Given the description of an element on the screen output the (x, y) to click on. 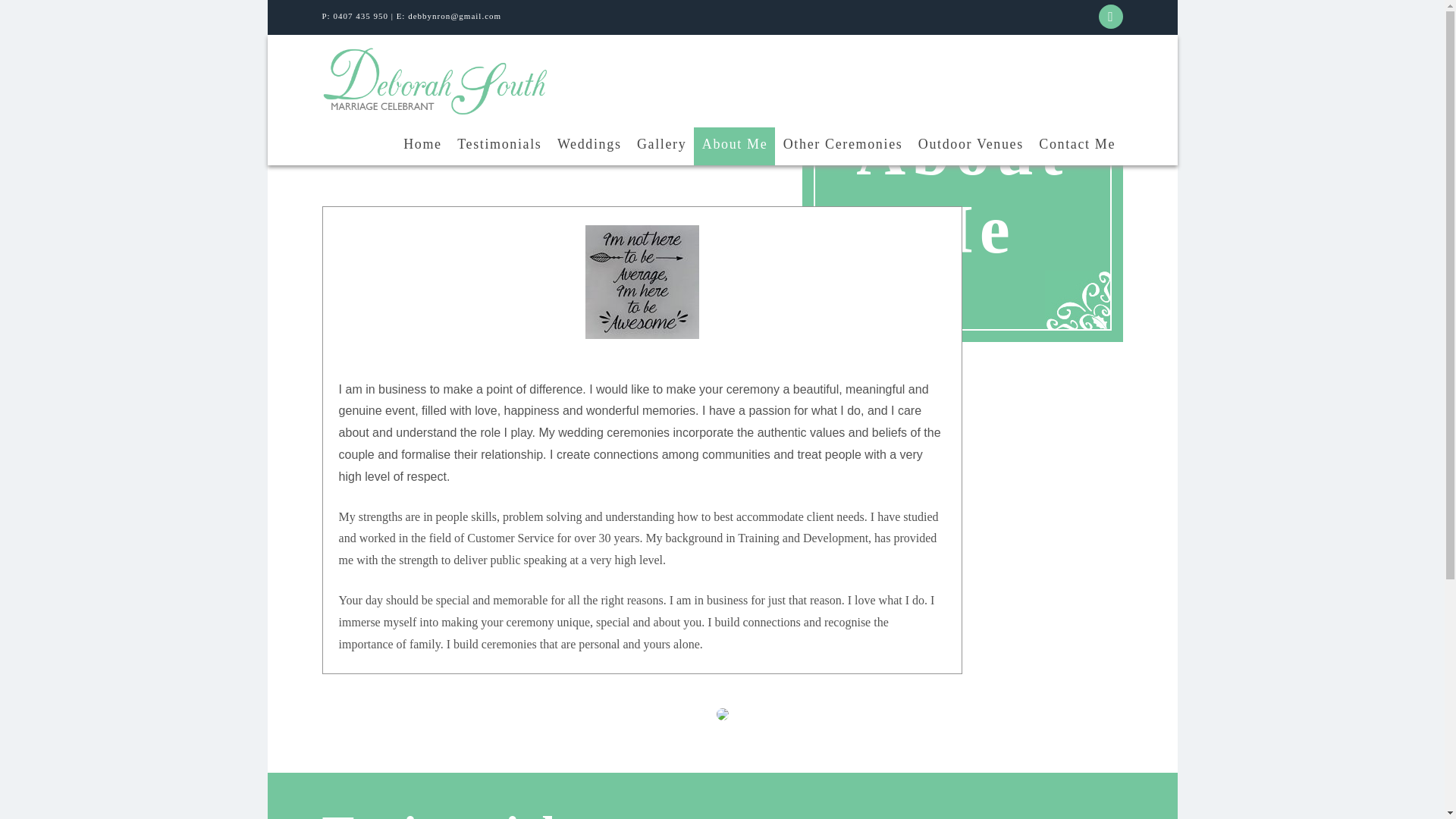
Testimonials (498, 146)
About Me (734, 146)
Other Ceremonies (842, 146)
Outdoor Venues (970, 146)
0407 435 950 (360, 15)
Contact Me (1076, 146)
Facebook (1109, 16)
Home (421, 146)
Weddings (588, 146)
Gallery (661, 146)
